Given the description of an element on the screen output the (x, y) to click on. 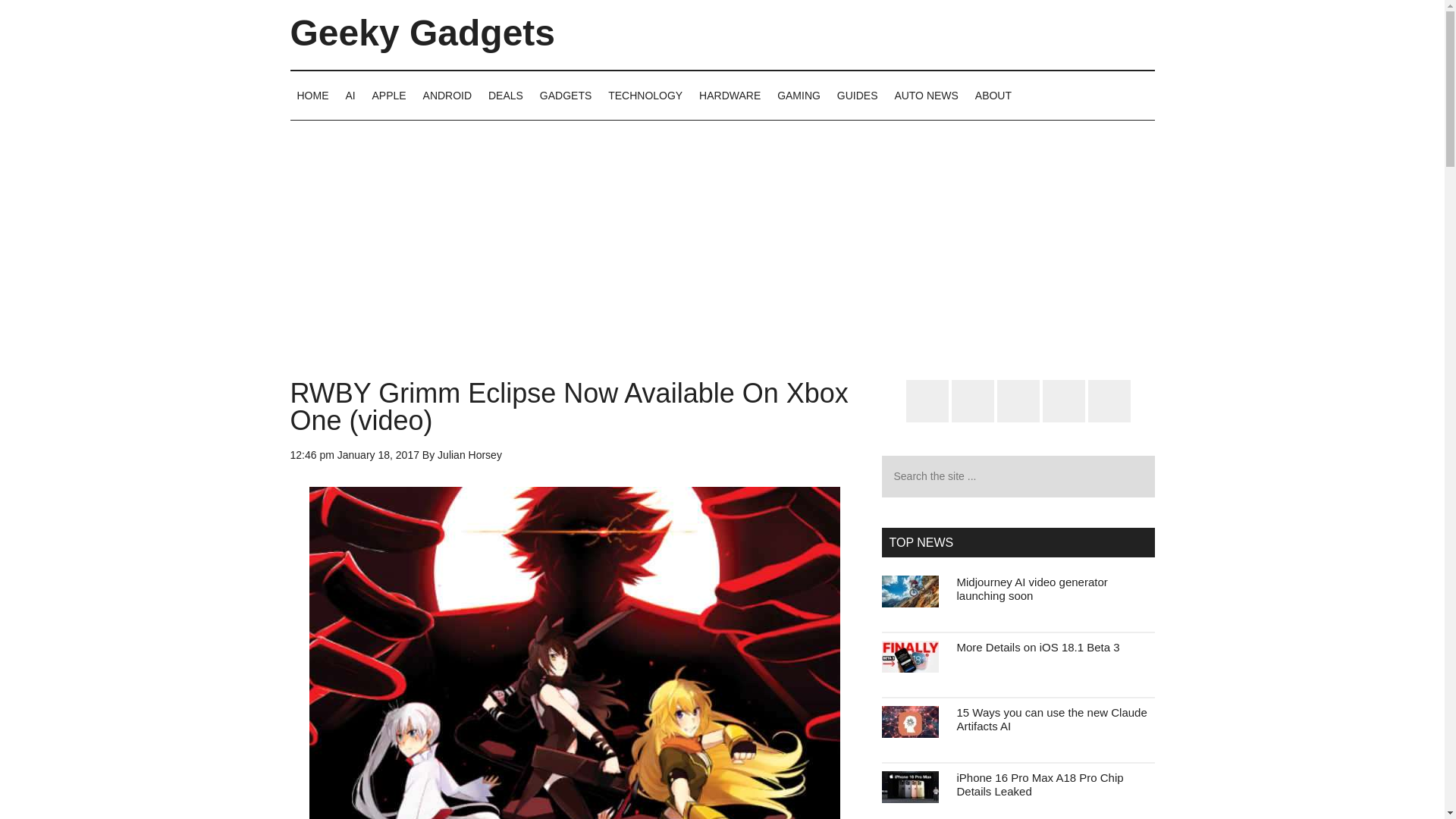
Geeky Gadgets (421, 33)
Julian Horsey (470, 454)
HOME (311, 95)
DEALS (505, 95)
Midjourney AI video generator launching soon (1032, 588)
TECHNOLOGY (644, 95)
GUIDES (857, 95)
AUTO NEWS (925, 95)
